Given the description of an element on the screen output the (x, y) to click on. 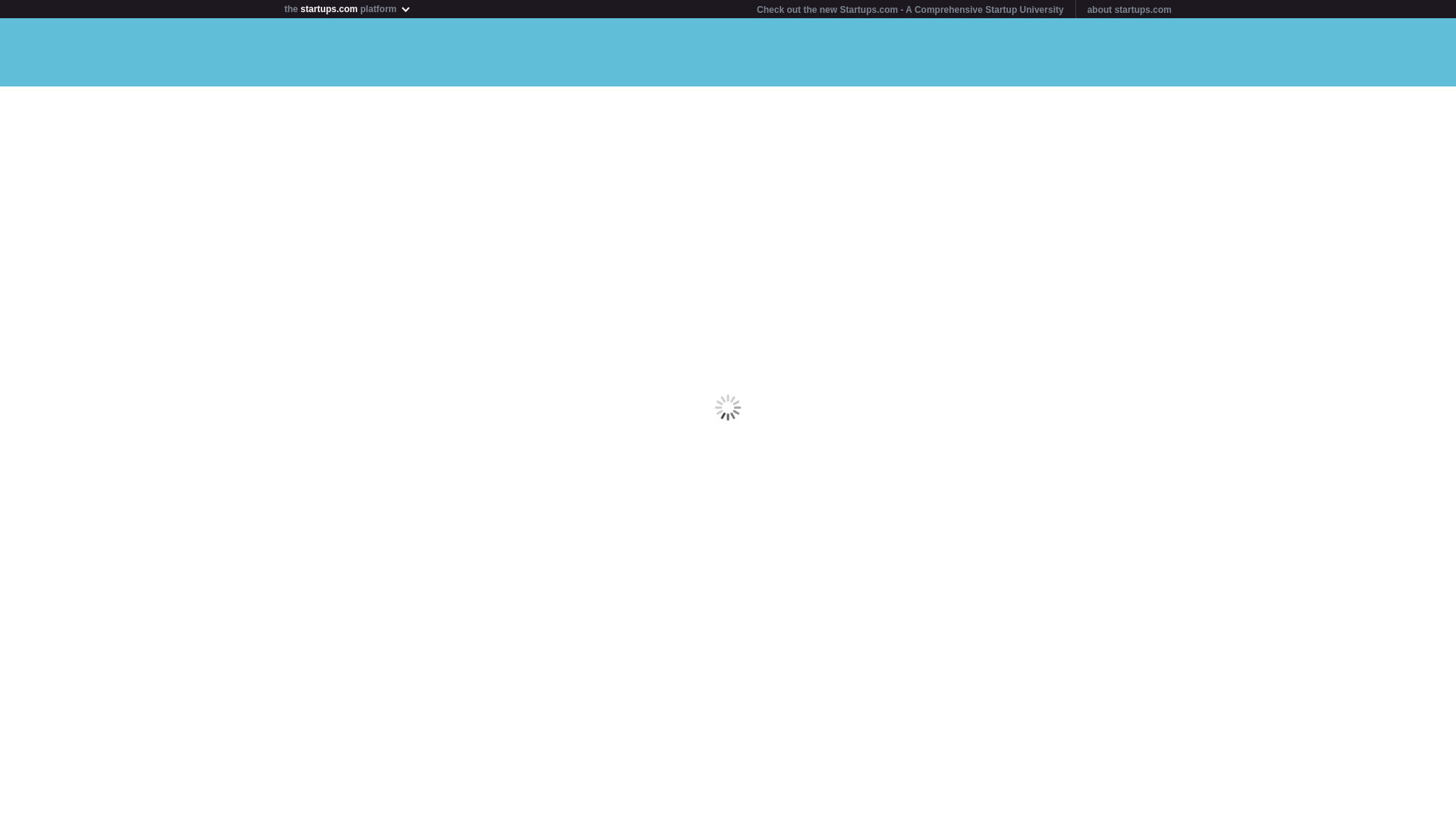
the startups.com platform (351, 6)
about startups.com (1129, 9)
